Given the description of an element on the screen output the (x, y) to click on. 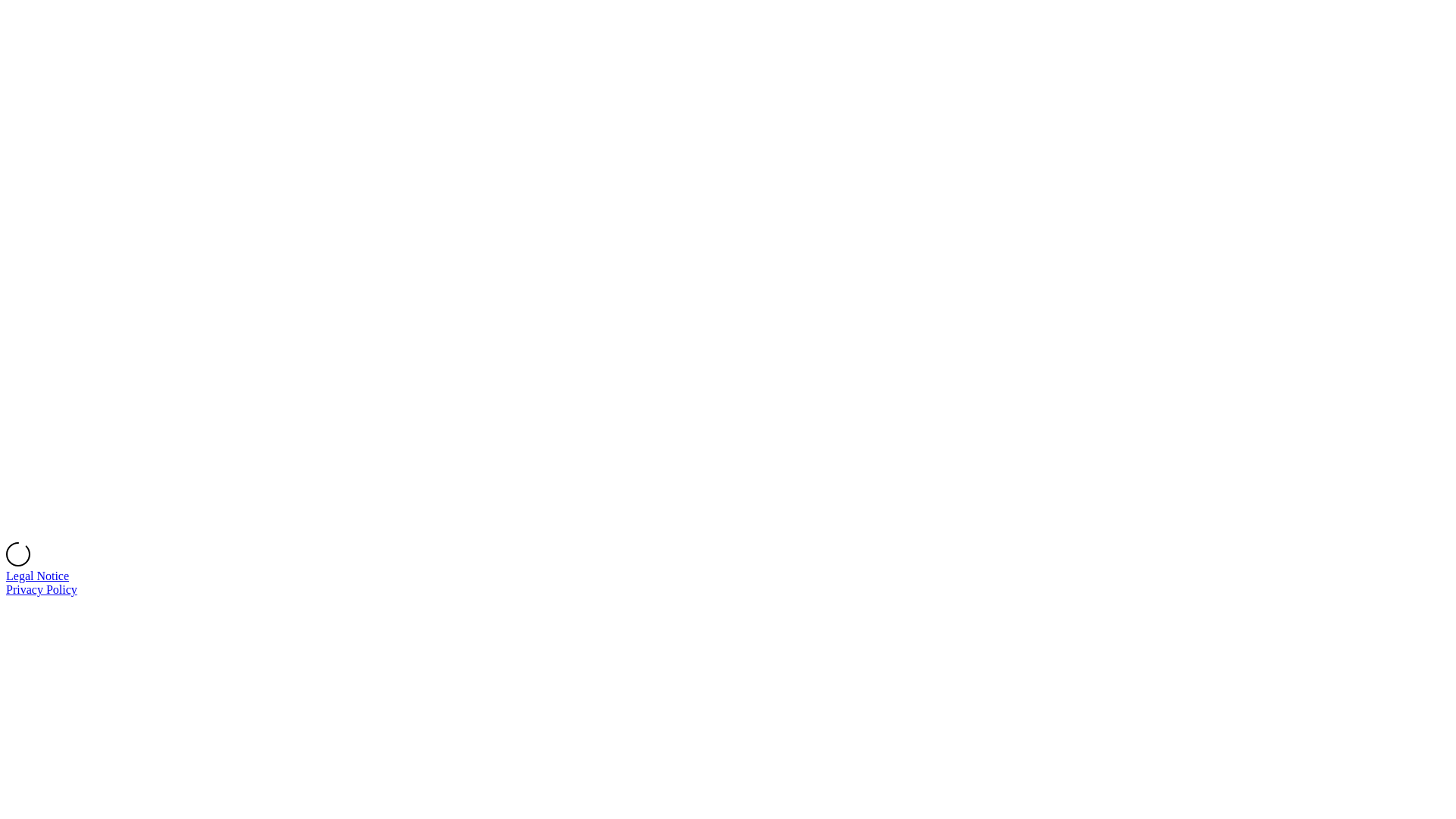
Jimdo Logo Element type: hover (727, 274)
Privacy Policy Element type: text (41, 589)
Legal Notice Element type: text (37, 575)
